Given the description of an element on the screen output the (x, y) to click on. 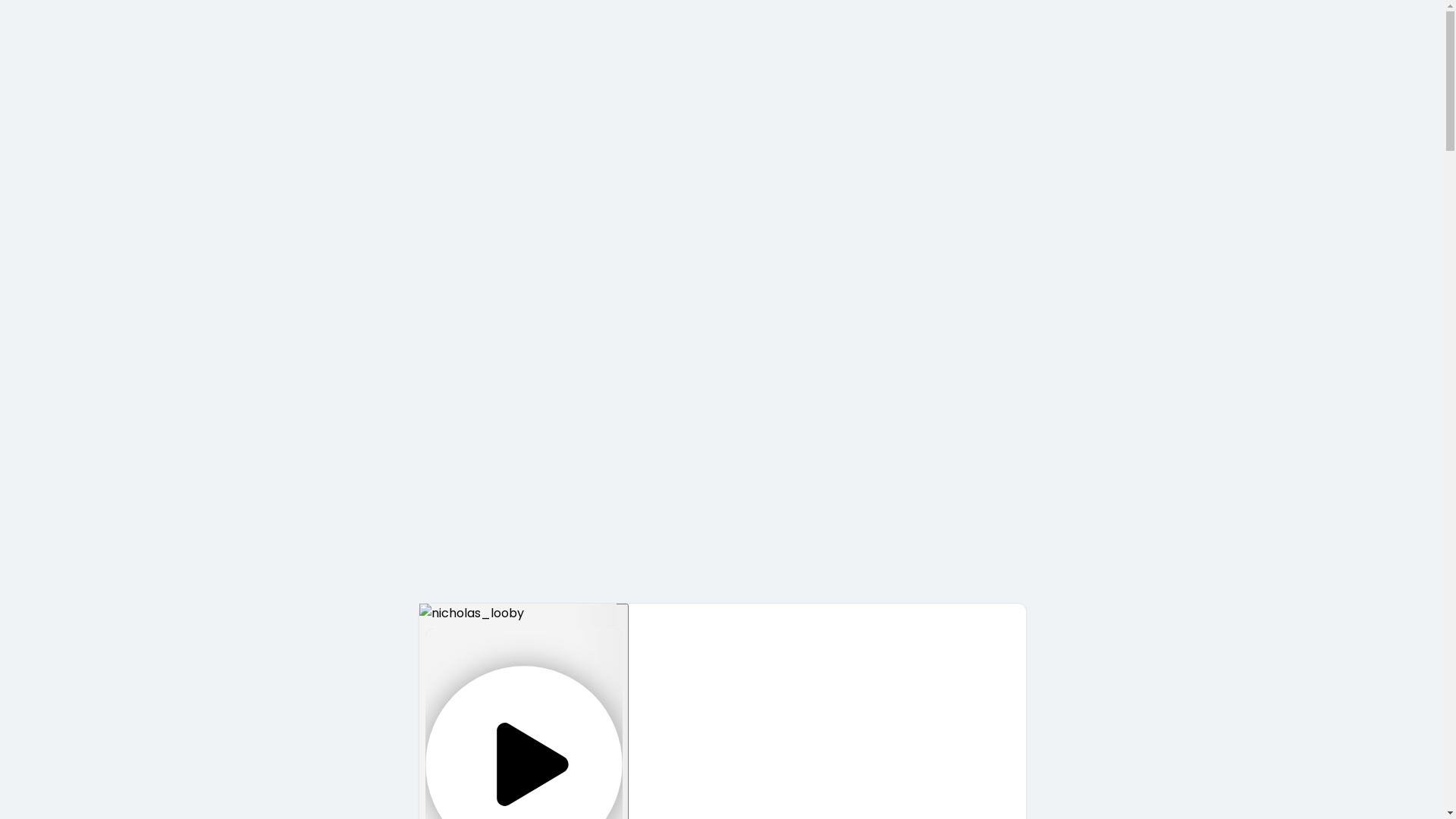
View Details Element type: text (541, 46)
Account Element type: text (564, 582)
Buzz Element type: text (494, 582)
My Meetings Element type: text (308, 582)
Messages Element type: text (105, 582)
Home Element type: text (32, 582)
